Given the description of an element on the screen output the (x, y) to click on. 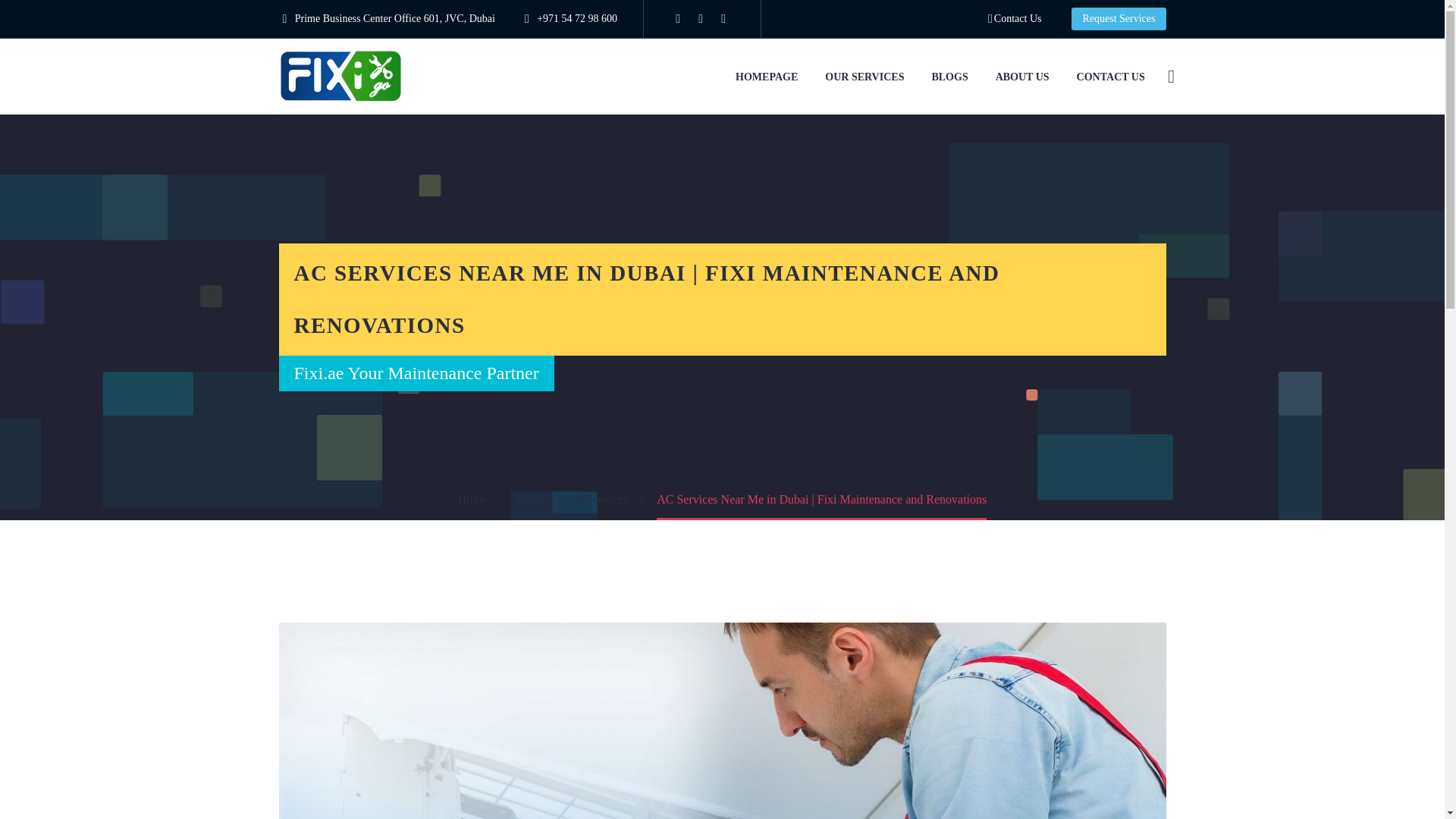
Instagram (699, 19)
HOMEPAGE (766, 75)
Request Services (1118, 18)
OUR SERVICES (864, 75)
WhatsApp (723, 19)
Contact Us (1014, 18)
Facebook (677, 19)
